Given the description of an element on the screen output the (x, y) to click on. 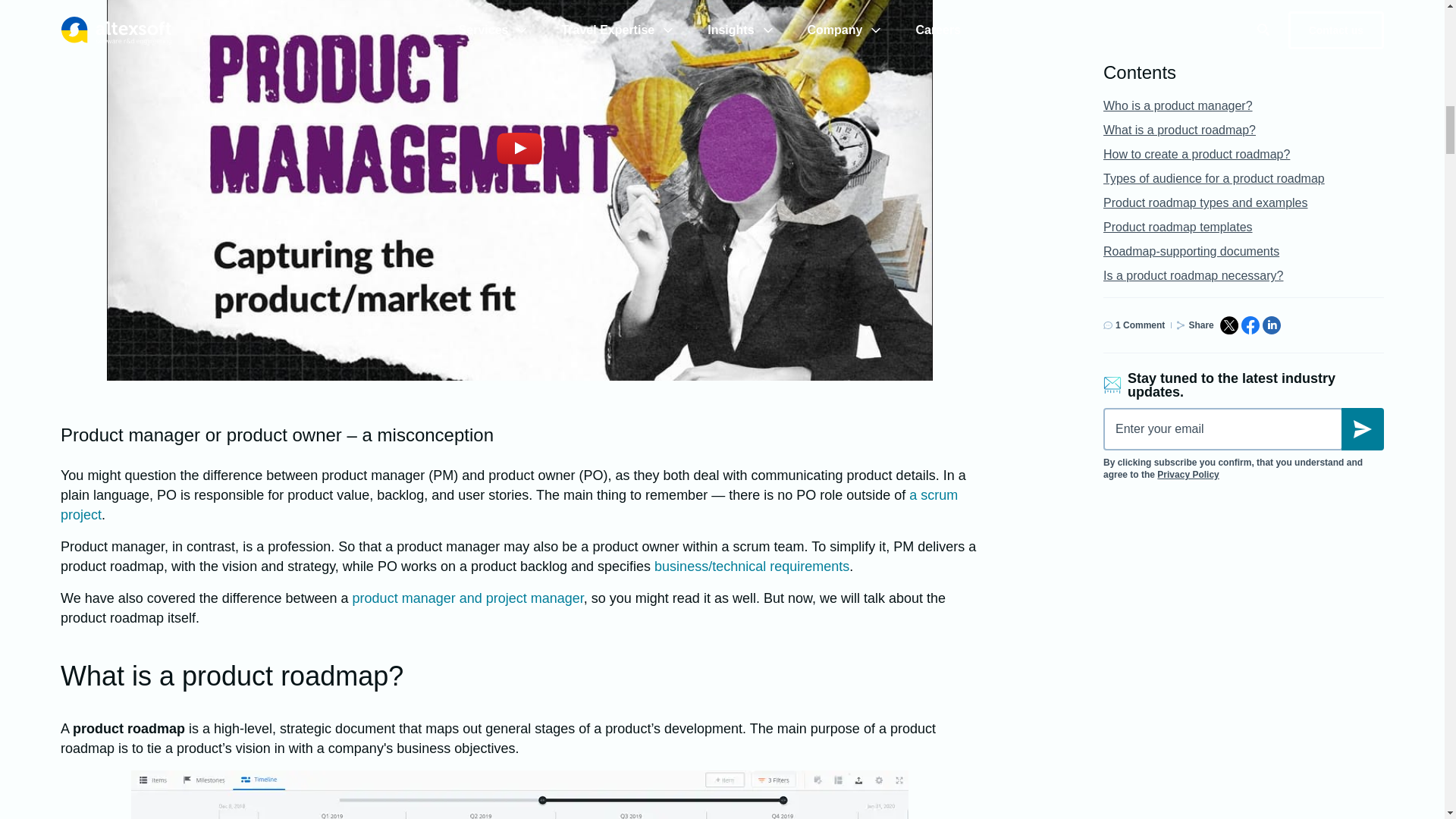
product manager and project manager (467, 598)
a scrum project (509, 504)
